Given the description of an element on the screen output the (x, y) to click on. 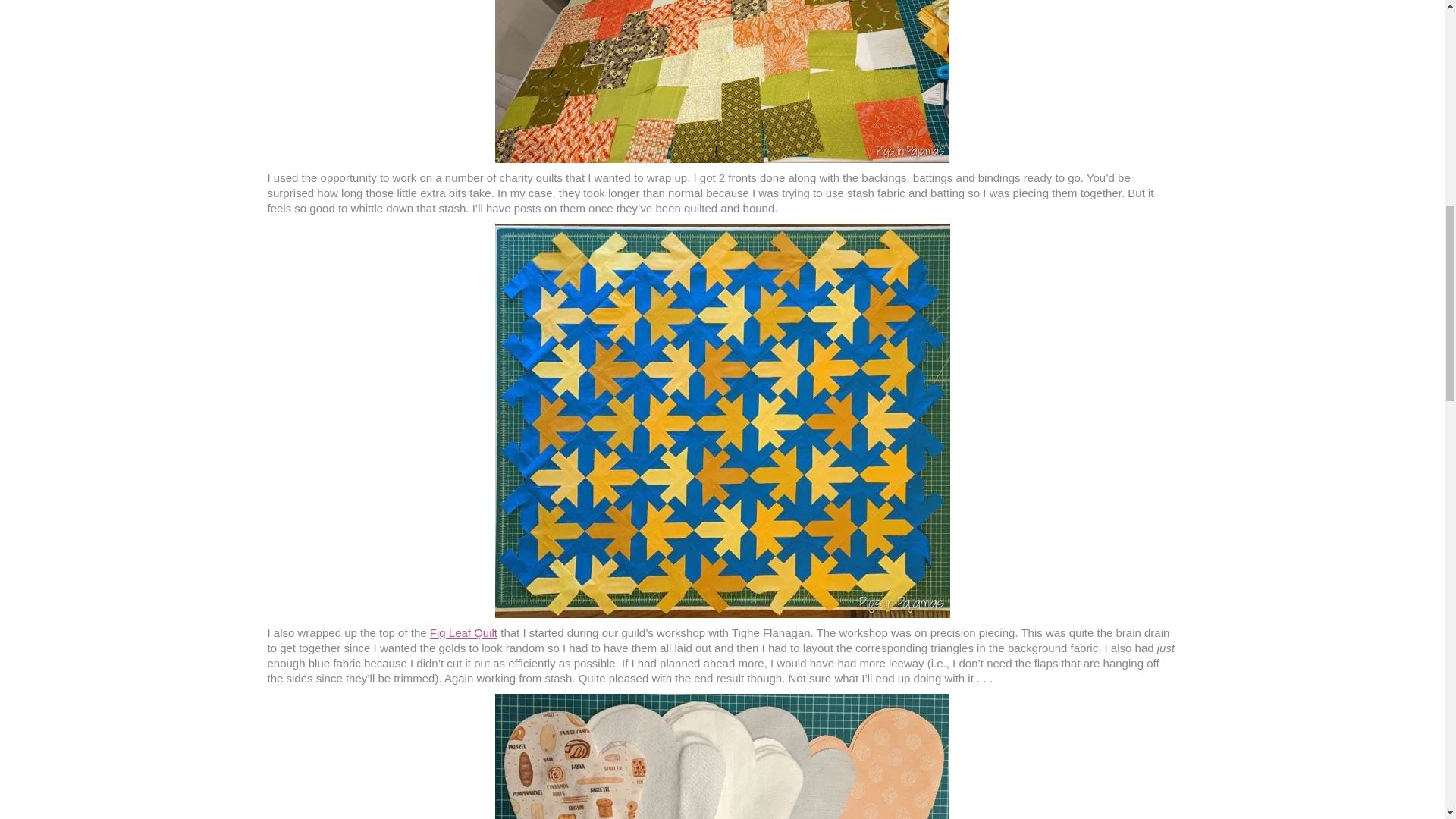
CharityQuilt-1.jpg (722, 81)
2022RetreatProjects-1.jpg (722, 756)
